Given the description of an element on the screen output the (x, y) to click on. 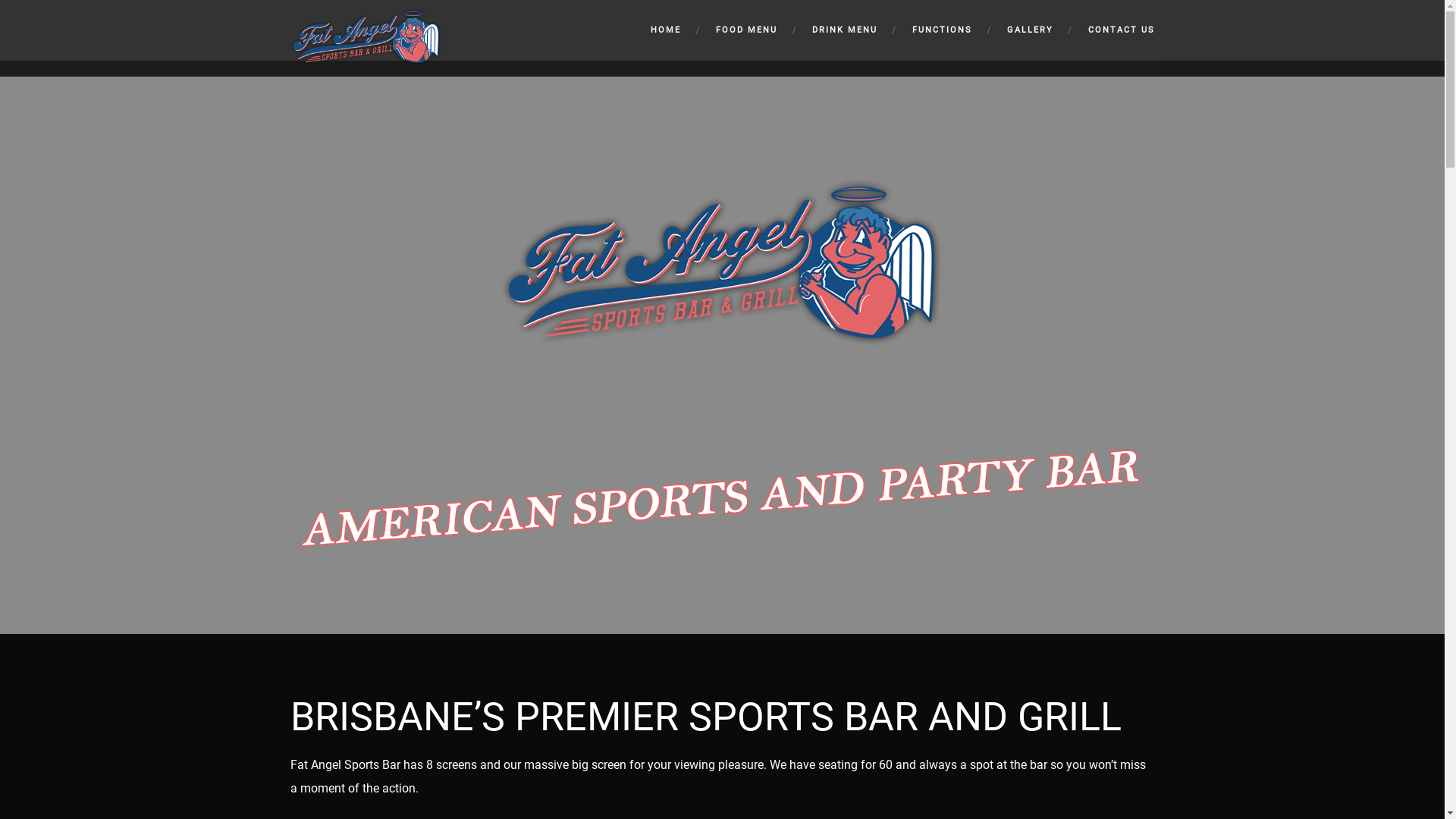
amercian-sports-and-party-bar Element type: hover (722, 519)
HOME Element type: text (667, 30)
CONTACT US Element type: text (1113, 30)
FOOD MENU Element type: text (748, 30)
GALLERY Element type: text (1032, 30)
fatangel-logo Element type: hover (722, 265)
FUNCTIONS Element type: text (944, 30)
DRINK MENU Element type: text (847, 30)
